Given the description of an element on the screen output the (x, y) to click on. 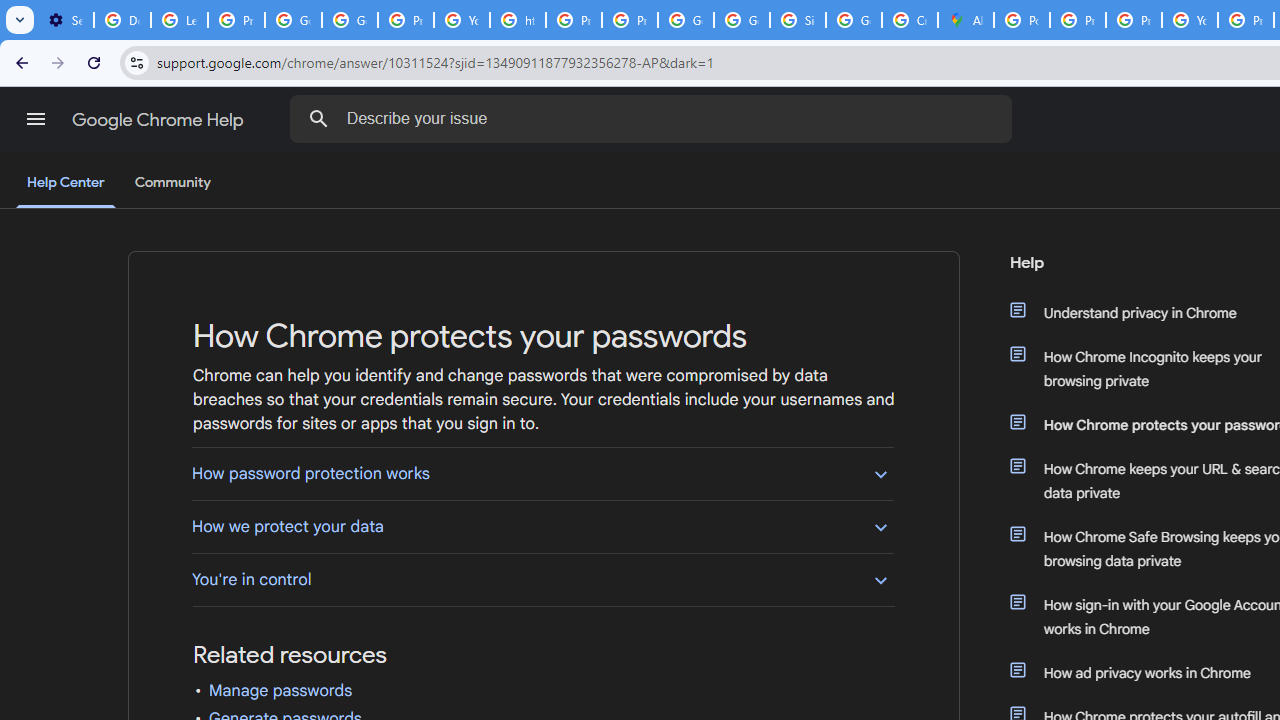
Main menu (35, 119)
How we protect your data (542, 525)
Community (171, 183)
Privacy Help Center - Policies Help (573, 20)
How password protection works (542, 473)
Google Chrome Help (159, 119)
YouTube (1190, 20)
Manage passwords (280, 691)
Privacy Help Center - Policies Help (1133, 20)
